Given the description of an element on the screen output the (x, y) to click on. 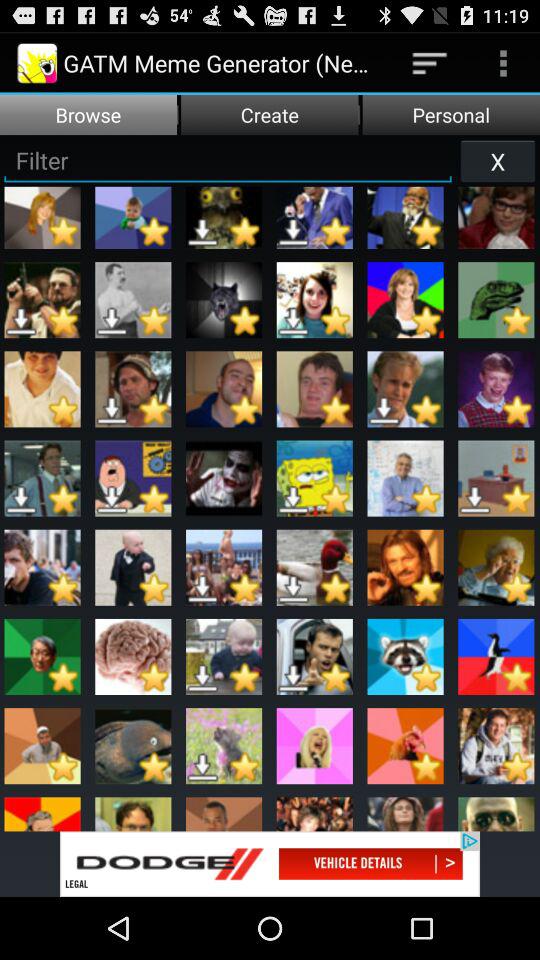
select filter (228, 160)
